Given the description of an element on the screen output the (x, y) to click on. 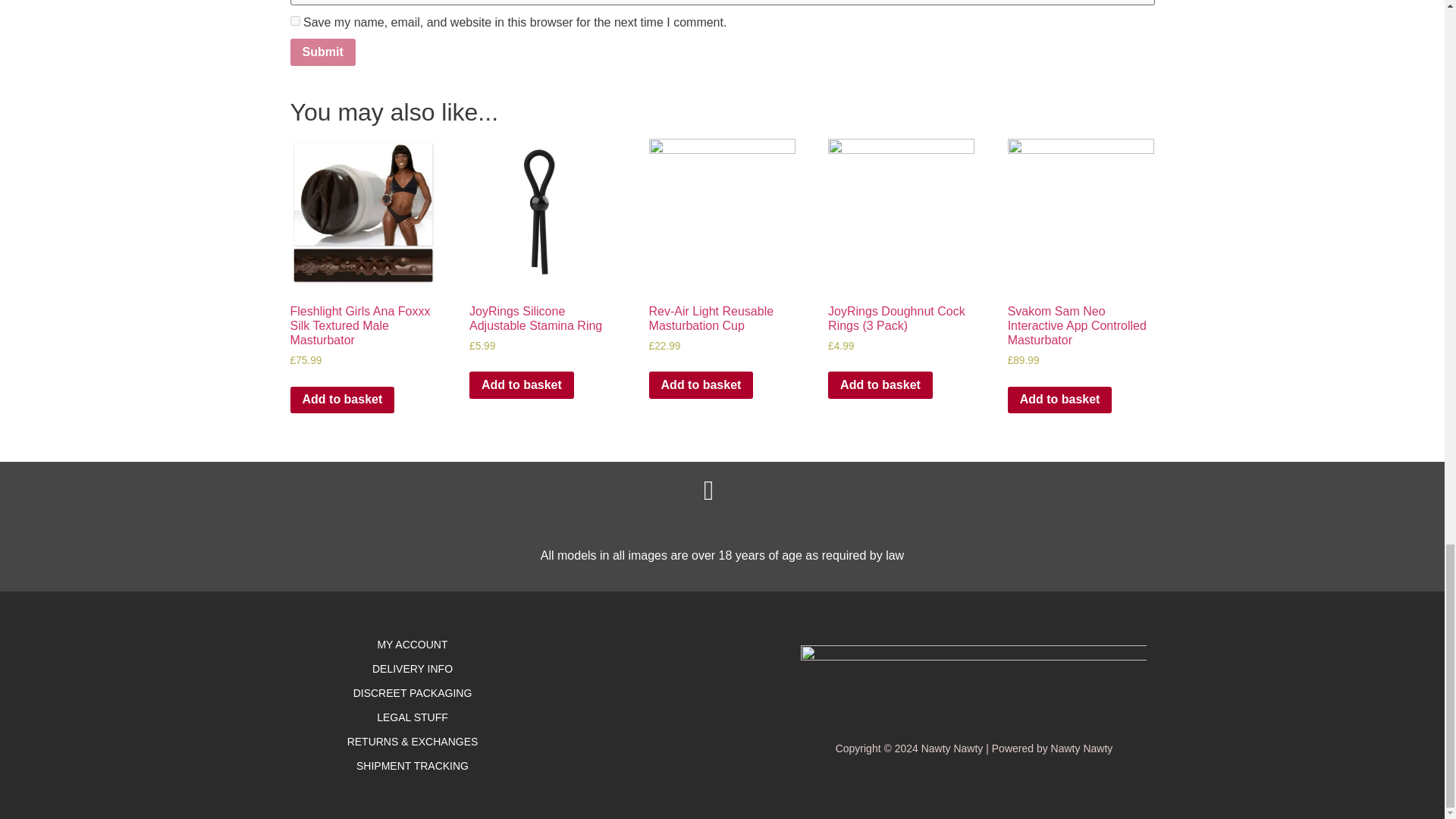
Submit (322, 52)
yes (294, 20)
